Given the description of an element on the screen output the (x, y) to click on. 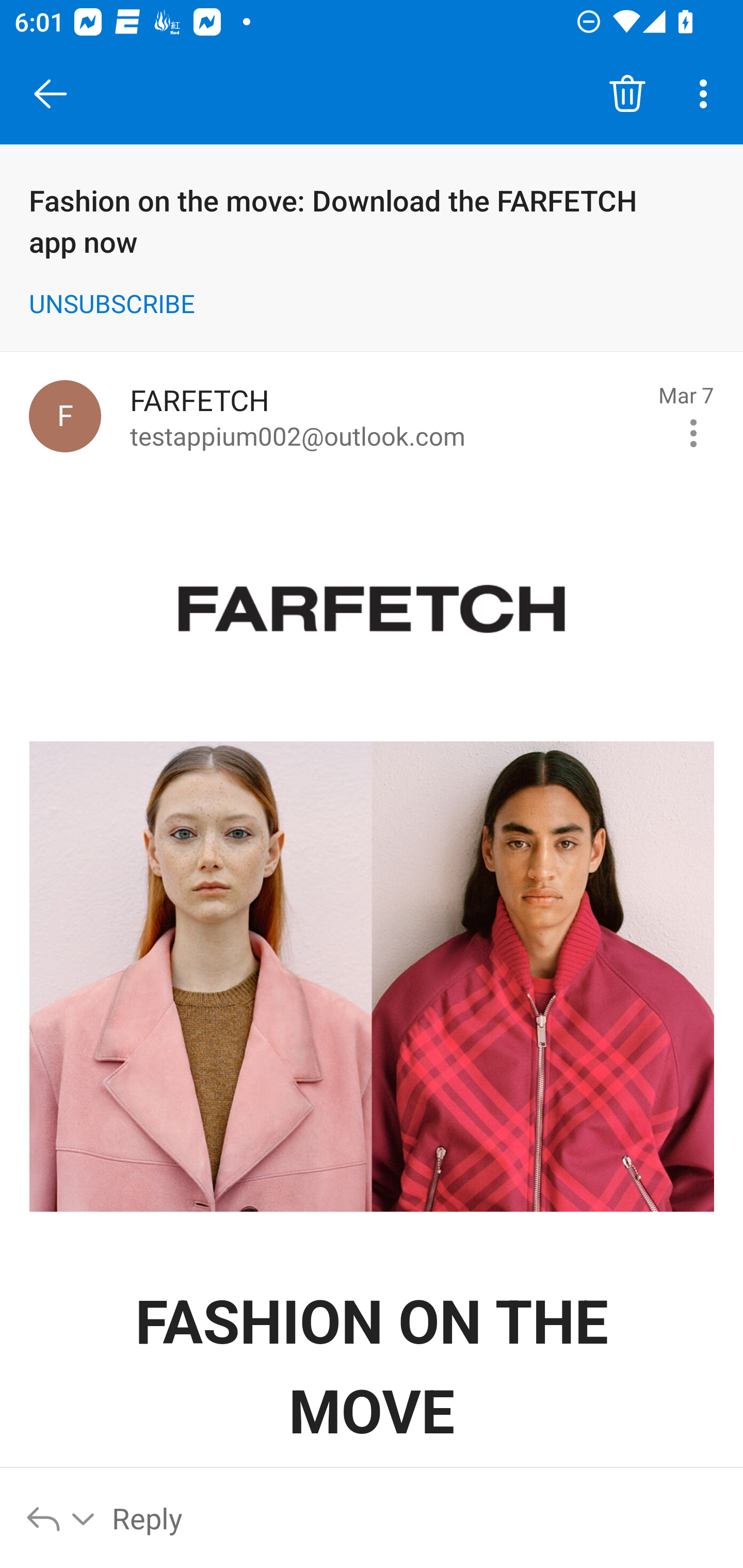
Close (50, 93)
Delete (626, 93)
More options (706, 93)
UNSUBSCRIBE (111, 313)
FARFETCH, farfetch@email.farfetch.com (64, 415)
FARFETCH
to testappium002@outlook.com (387, 416)
Message actions (692, 432)
FARFETCH (371, 612)
image (372, 976)
Reply options (61, 1517)
